Given the description of an element on the screen output the (x, y) to click on. 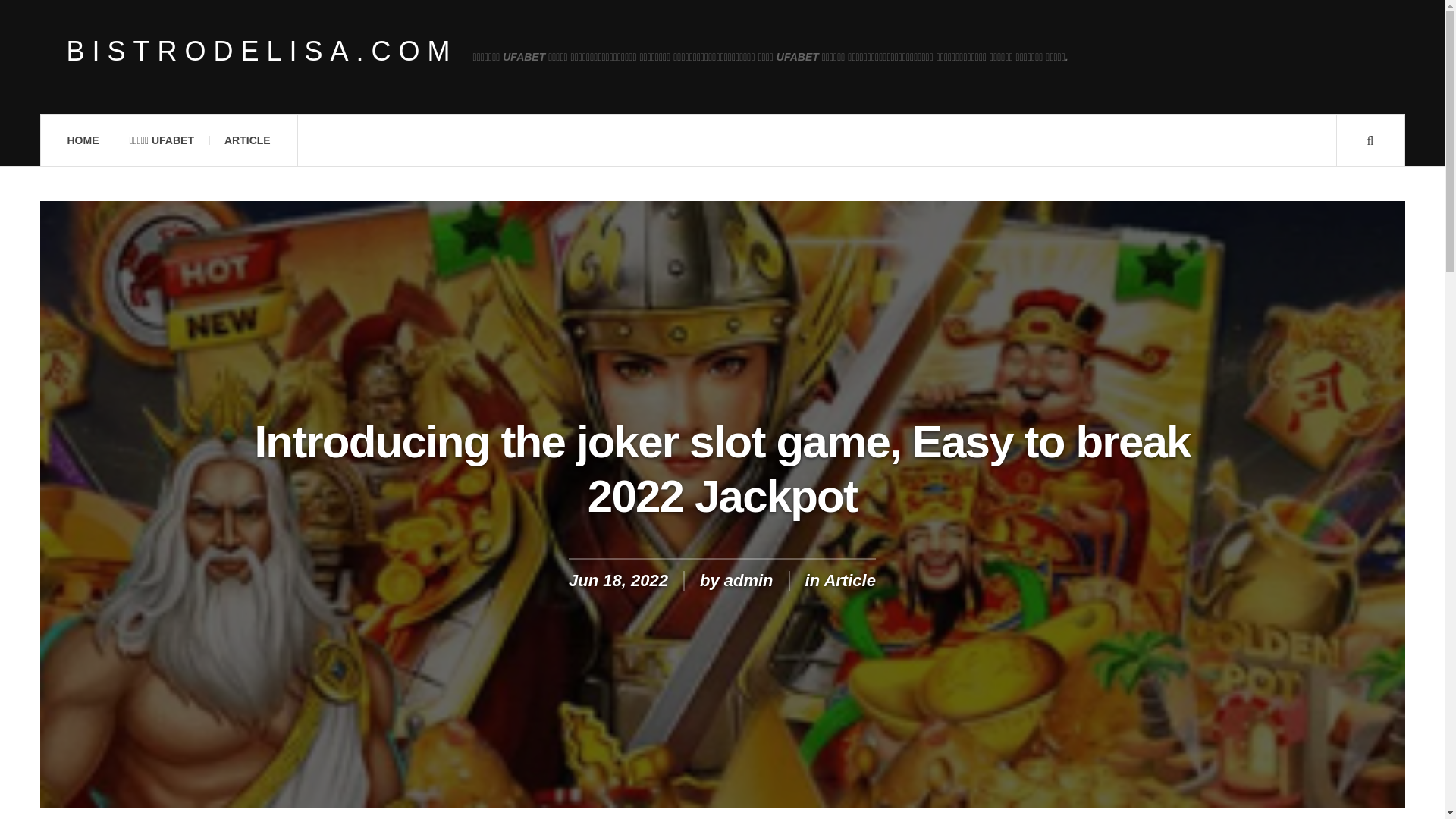
admin (748, 579)
bistrodelisa.com (262, 51)
Article (849, 579)
BISTRODELISA.COM (262, 51)
View all posts in Article (849, 579)
HOME (81, 140)
ARTICLE (247, 140)
